Given the description of an element on the screen output the (x, y) to click on. 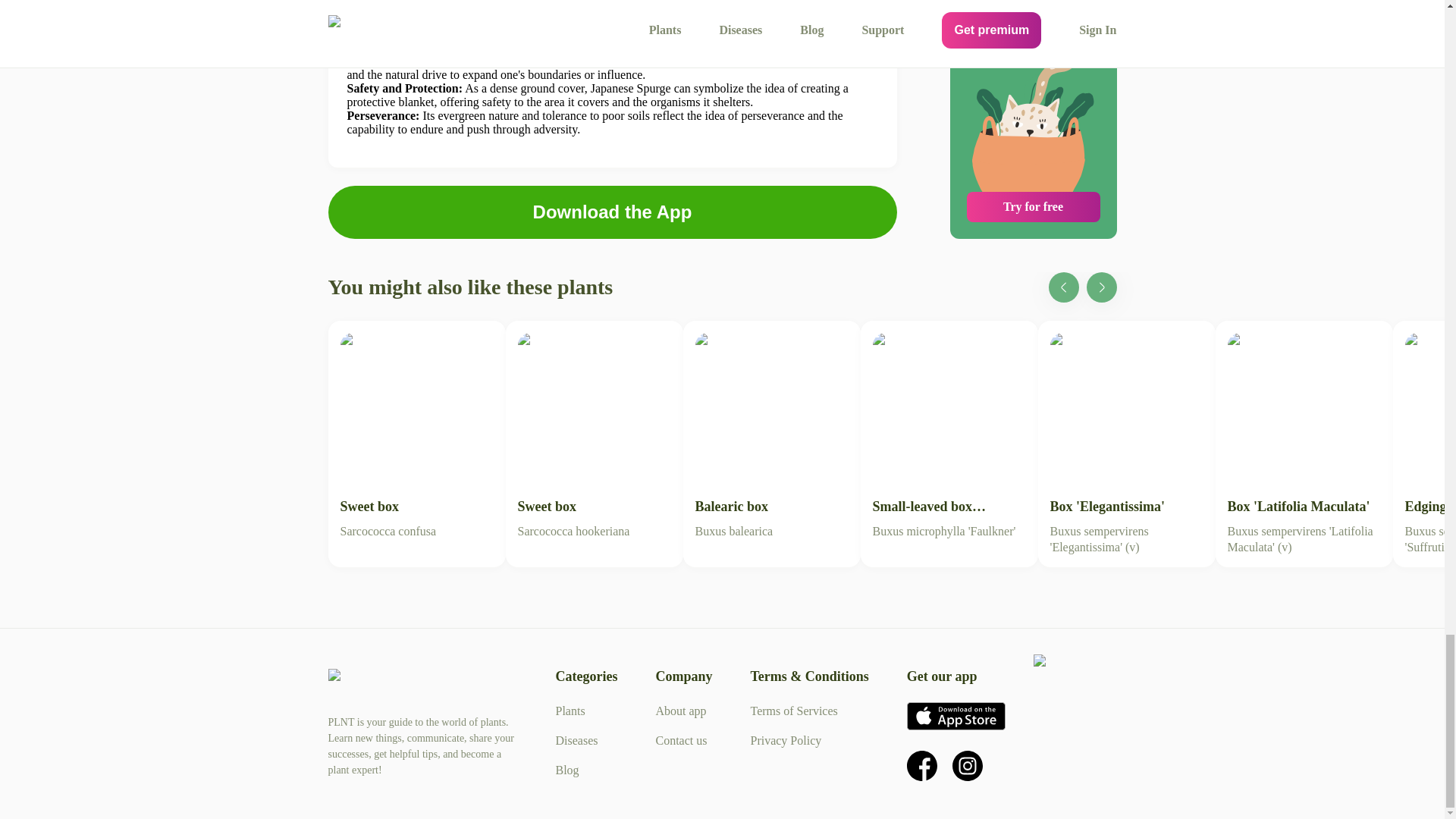
Plants (771, 436)
Download the App (569, 710)
Blog (611, 212)
Download the App (566, 769)
About app (611, 212)
Diseases (416, 436)
Privacy Policy (948, 436)
Contact us (680, 710)
Terms of Services (575, 739)
